Given the description of an element on the screen output the (x, y) to click on. 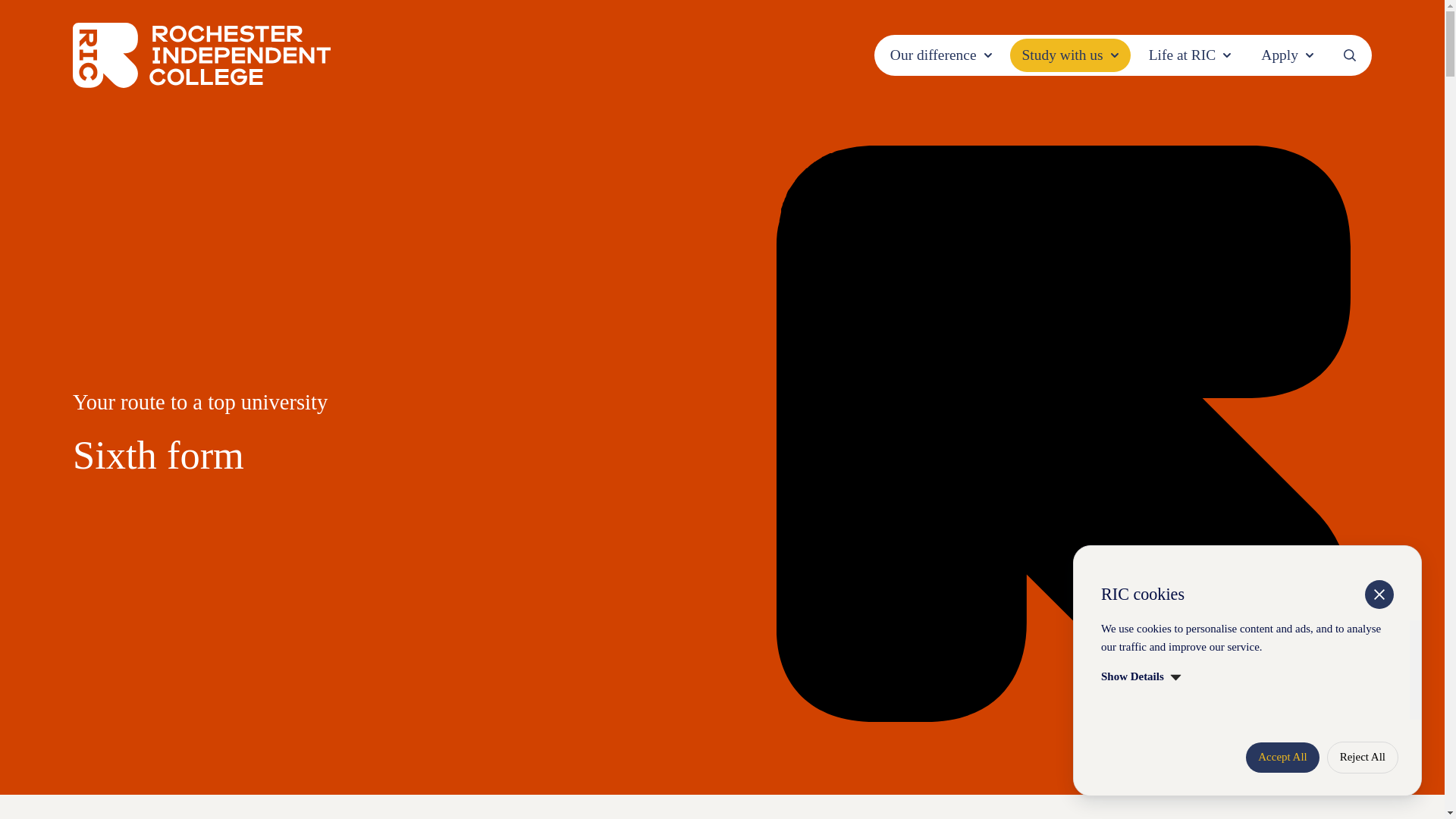
Apply (1286, 55)
Rochester Independent College (201, 55)
Rochester Independent College Homepage (201, 55)
Life at RIC (1190, 55)
Our difference (940, 55)
Study with us (1070, 55)
